Given the description of an element on the screen output the (x, y) to click on. 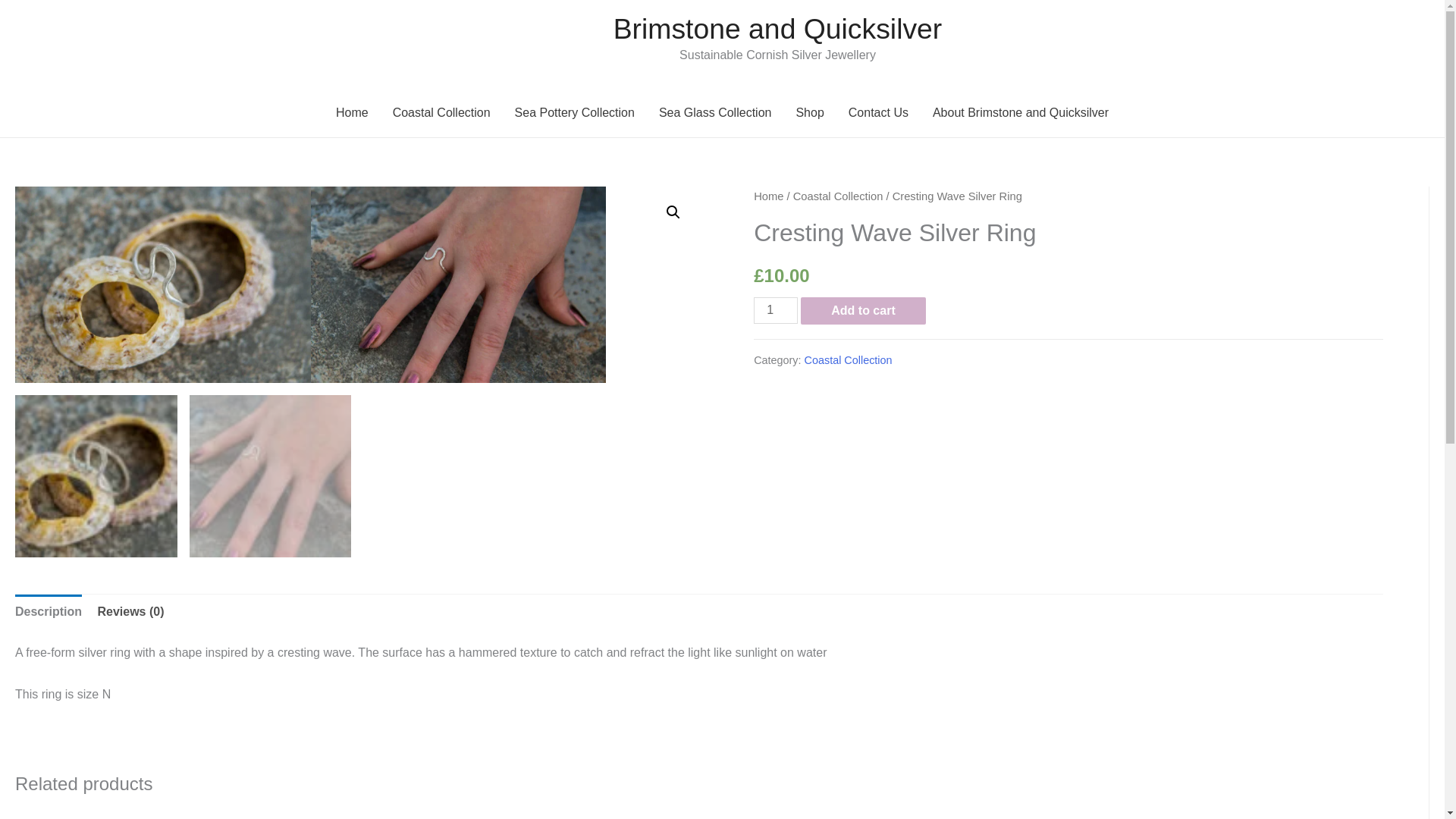
Add to cart (862, 310)
Coastal Collection (848, 359)
Coastal Collection (441, 112)
Qty (775, 310)
Shop (809, 112)
DSC05653 (162, 285)
About Brimstone and Quicksilver (1020, 112)
cornish-silver-jewelery-SSR4-3 (459, 285)
Coastal Collection (838, 196)
Home (351, 112)
Contact Us (877, 112)
Brimstone and Quicksilver (777, 29)
1 (775, 310)
Description (47, 611)
Sea Glass Collection (715, 112)
